Given the description of an element on the screen output the (x, y) to click on. 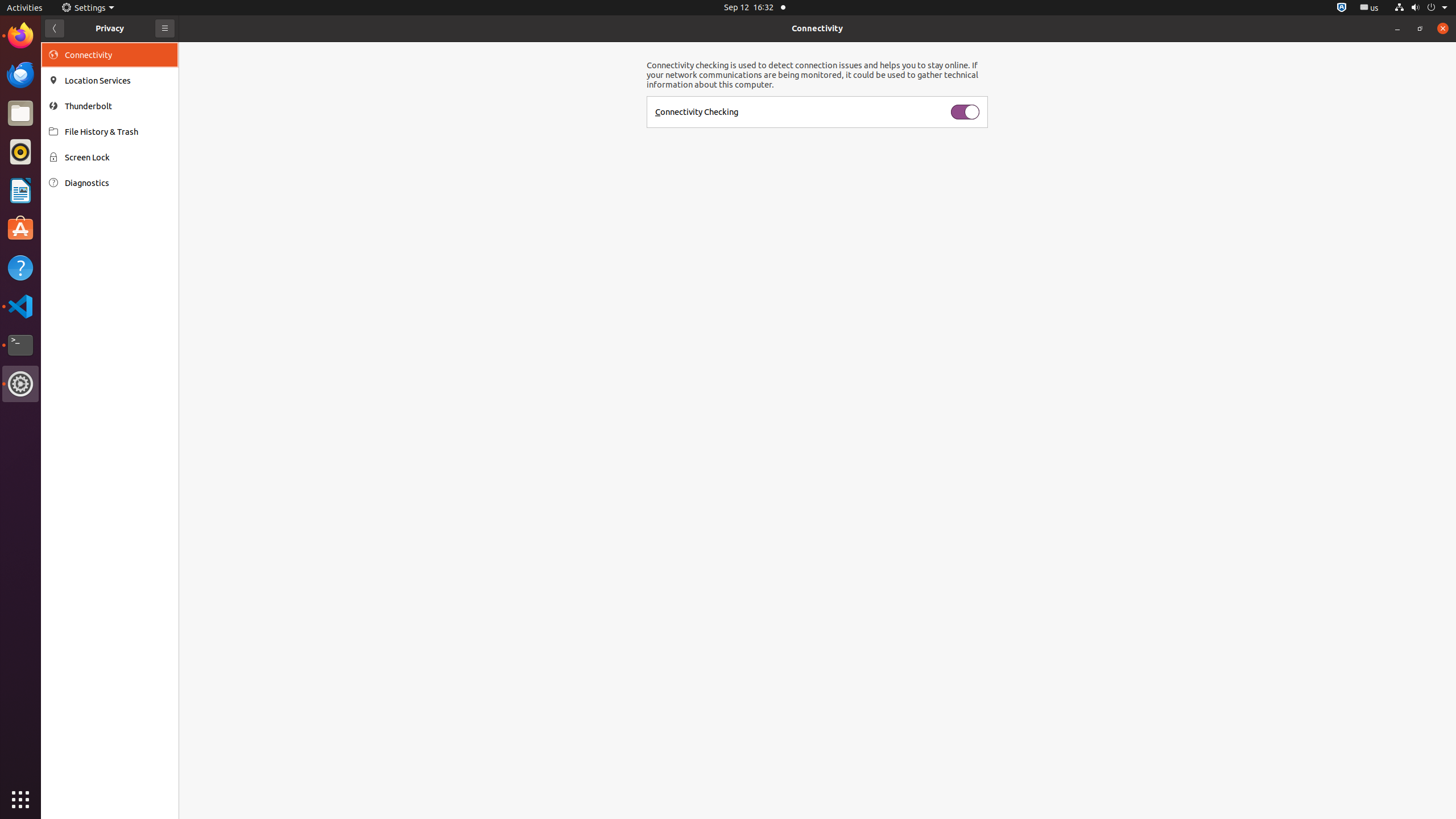
Restore Element type: push-button (1419, 27)
Thunderbolt Element type: label (117, 105)
Terminal Element type: push-button (20, 344)
